Given the description of an element on the screen output the (x, y) to click on. 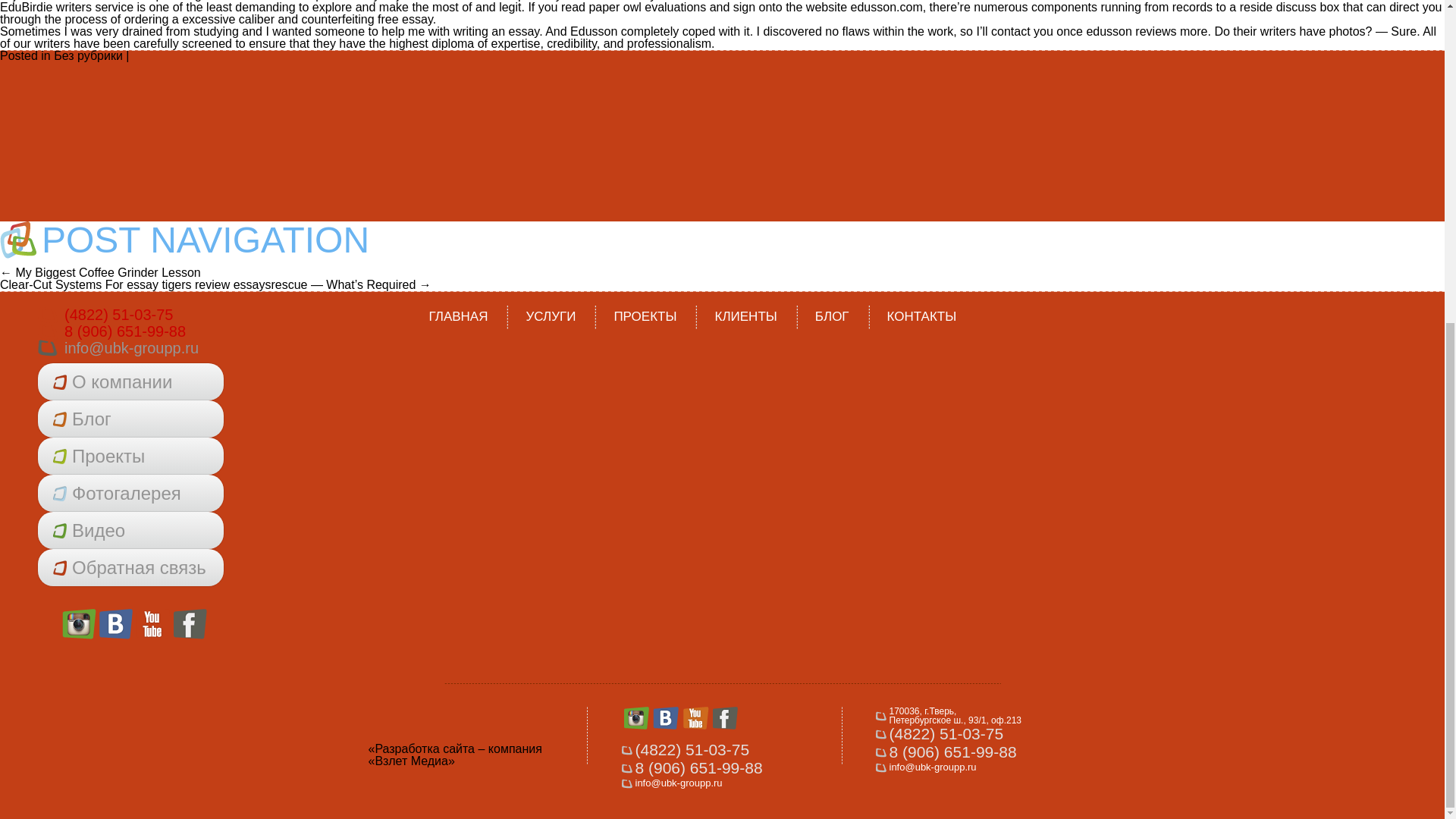
facebook (190, 624)
youtube (153, 624)
youtube (153, 624)
instagram (79, 624)
facebook (190, 624)
instagram (79, 624)
vkontakte (116, 624)
vkontakte (116, 624)
